Given the description of an element on the screen output the (x, y) to click on. 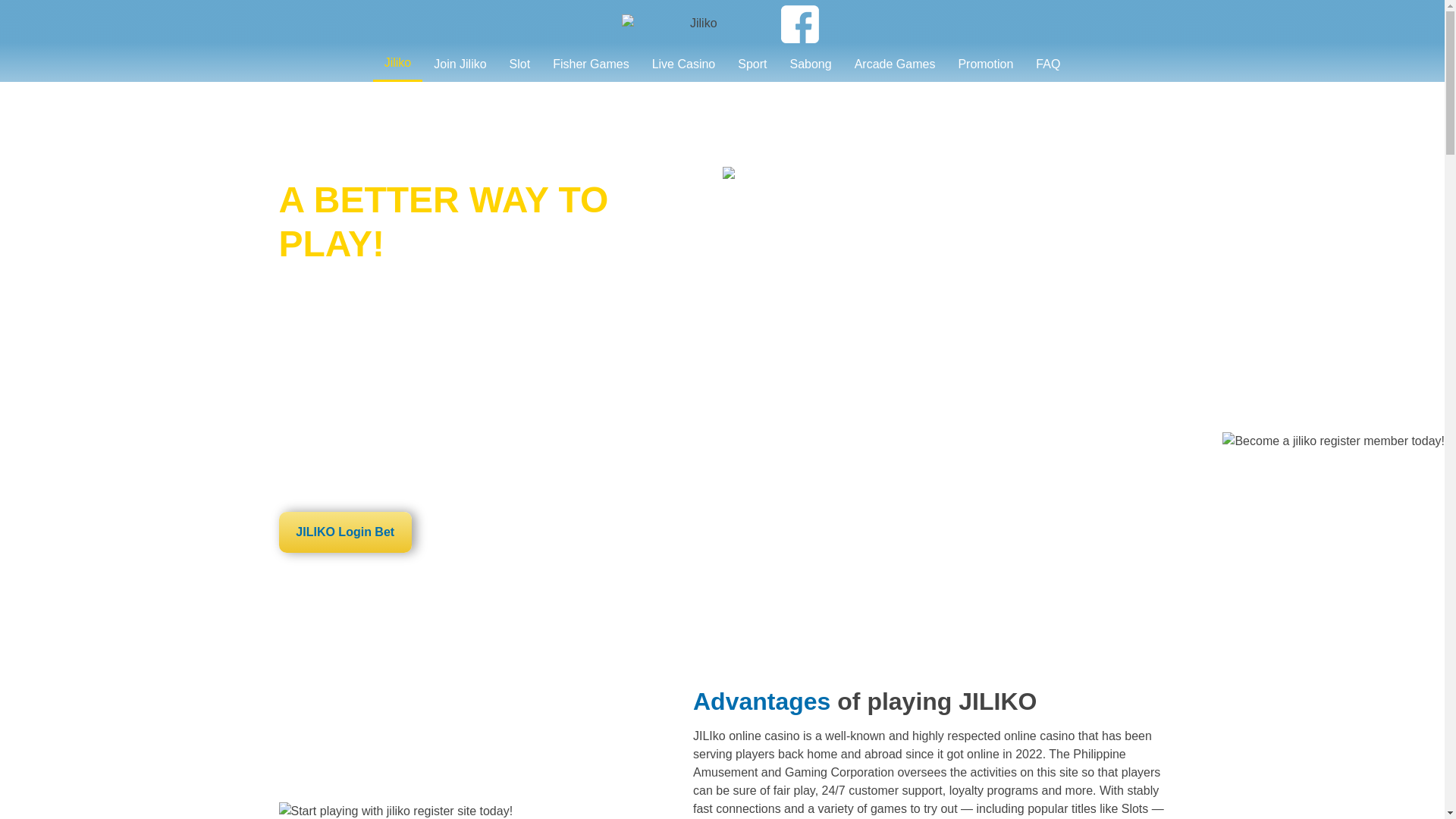
Slot (519, 63)
Promotion (985, 63)
Join Jiliko (459, 63)
FAQ (1048, 63)
Live Casino (683, 63)
Jiliko (397, 63)
JILIKO Login Bet (345, 531)
Arcade Games (895, 63)
Fisher Games (590, 63)
Sport (751, 63)
Sabong (810, 63)
